Given the description of an element on the screen output the (x, y) to click on. 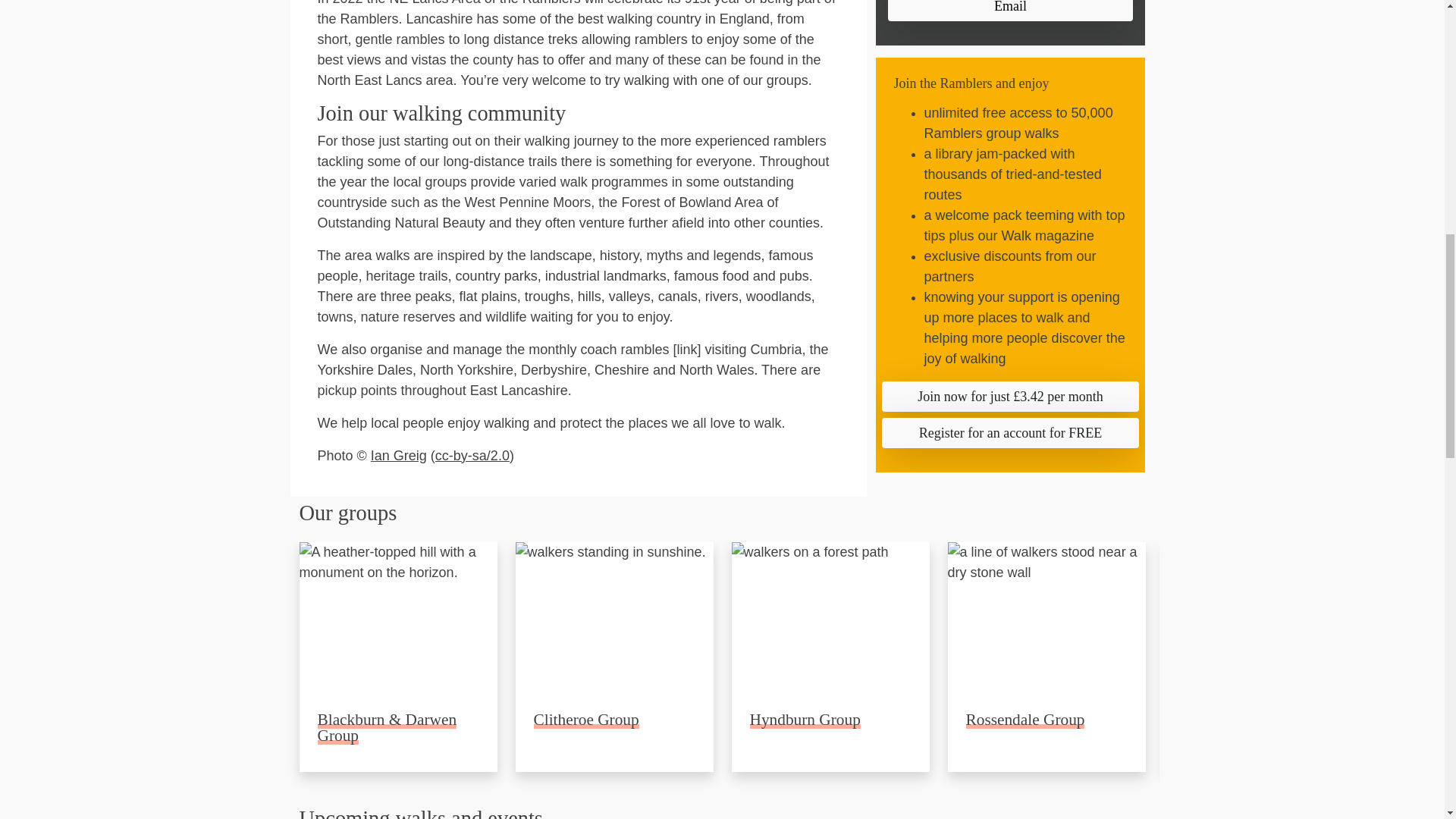
Next slide (1131, 515)
Previous slide (1096, 515)
Register for an account for FREE (1009, 432)
Hyndburn Group (804, 719)
Ian Greig (398, 455)
Rossendale Group (1025, 719)
Email (1009, 10)
Clitheroe Group (586, 719)
